Given the description of an element on the screen output the (x, y) to click on. 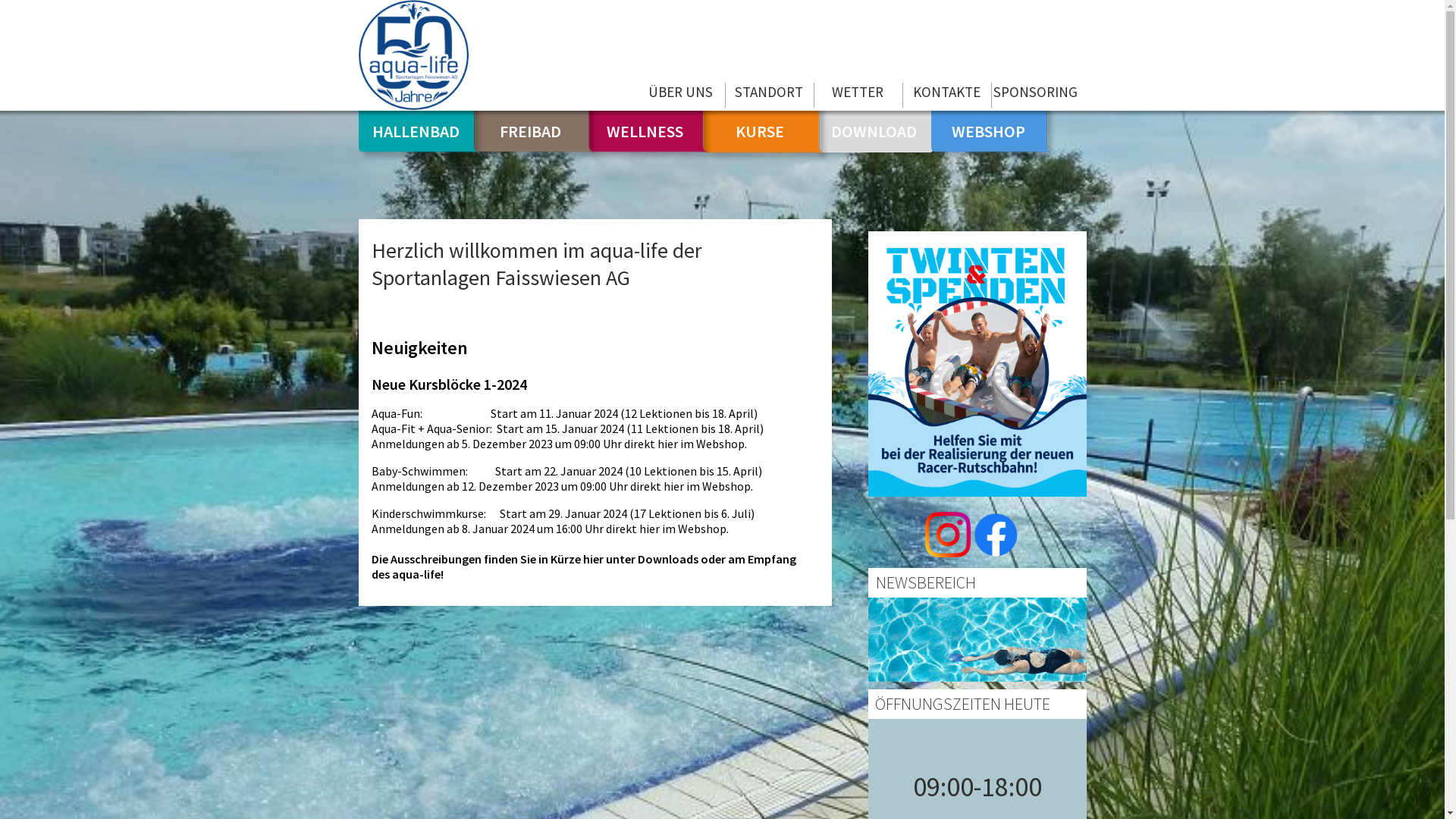
HALLENBAD Element type: text (415, 130)
WETTER Element type: text (857, 94)
STANDORT Element type: text (769, 94)
DOWNLOAD Element type: text (873, 130)
SPONSORING Element type: text (1034, 94)
KURSE Element type: text (759, 130)
Direkt zum Inhalt Element type: text (46, 0)
WEBSHOP Element type: text (988, 130)
WELLNESS Element type: text (644, 130)
NEWSBEREICH Element type: text (925, 582)
FREIBAD Element type: text (530, 130)
KONTAKTE Element type: text (946, 94)
